Given the description of an element on the screen output the (x, y) to click on. 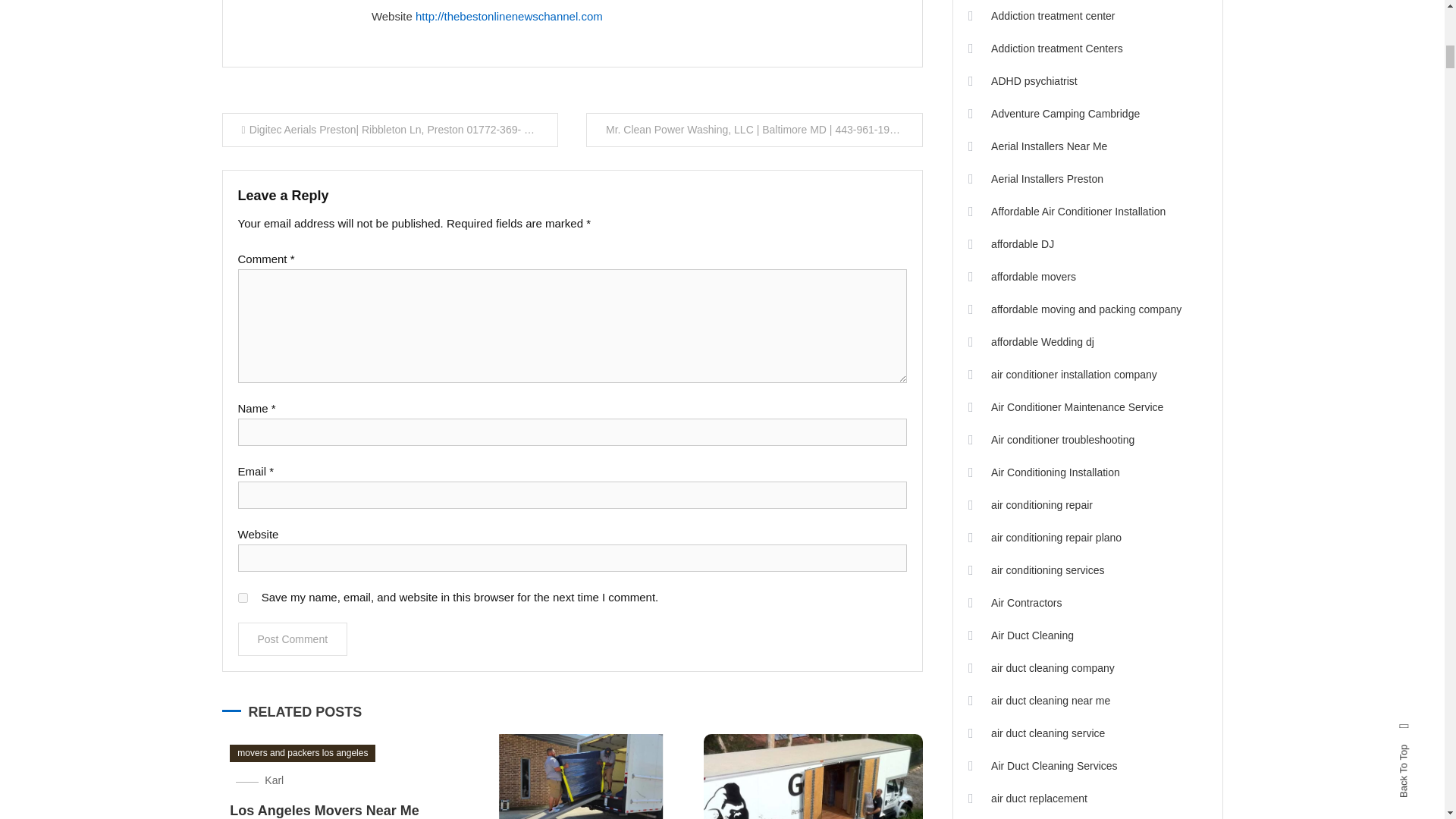
Post Comment (292, 639)
Posts by Karl (389, 1)
yes (242, 597)
